Given the description of an element on the screen output the (x, y) to click on. 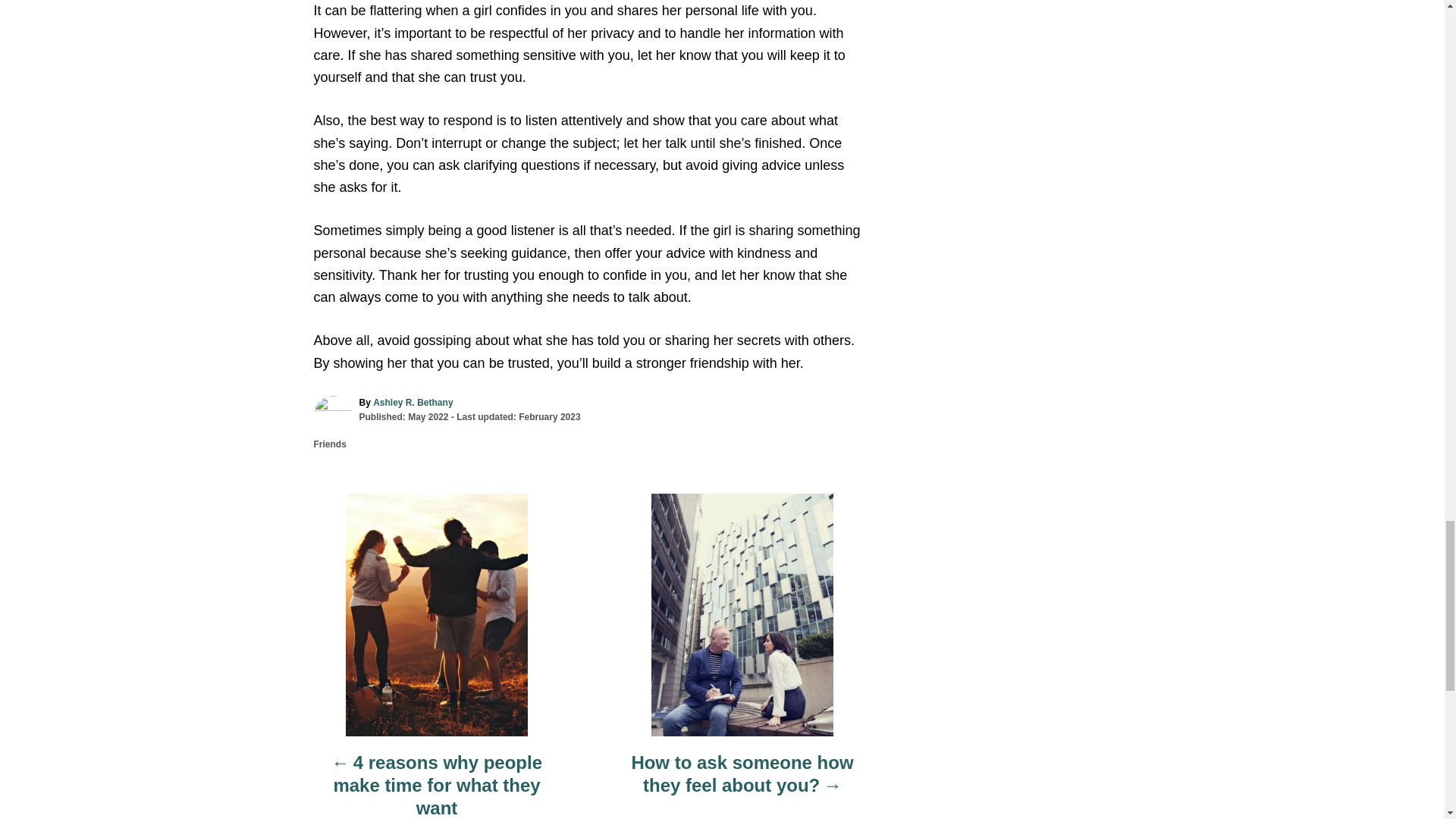
4 reasons why people make time for what they want (437, 785)
Friends (330, 443)
Ashley R. Bethany (412, 402)
How to ask someone how they feel about you? (741, 781)
